Given the description of an element on the screen output the (x, y) to click on. 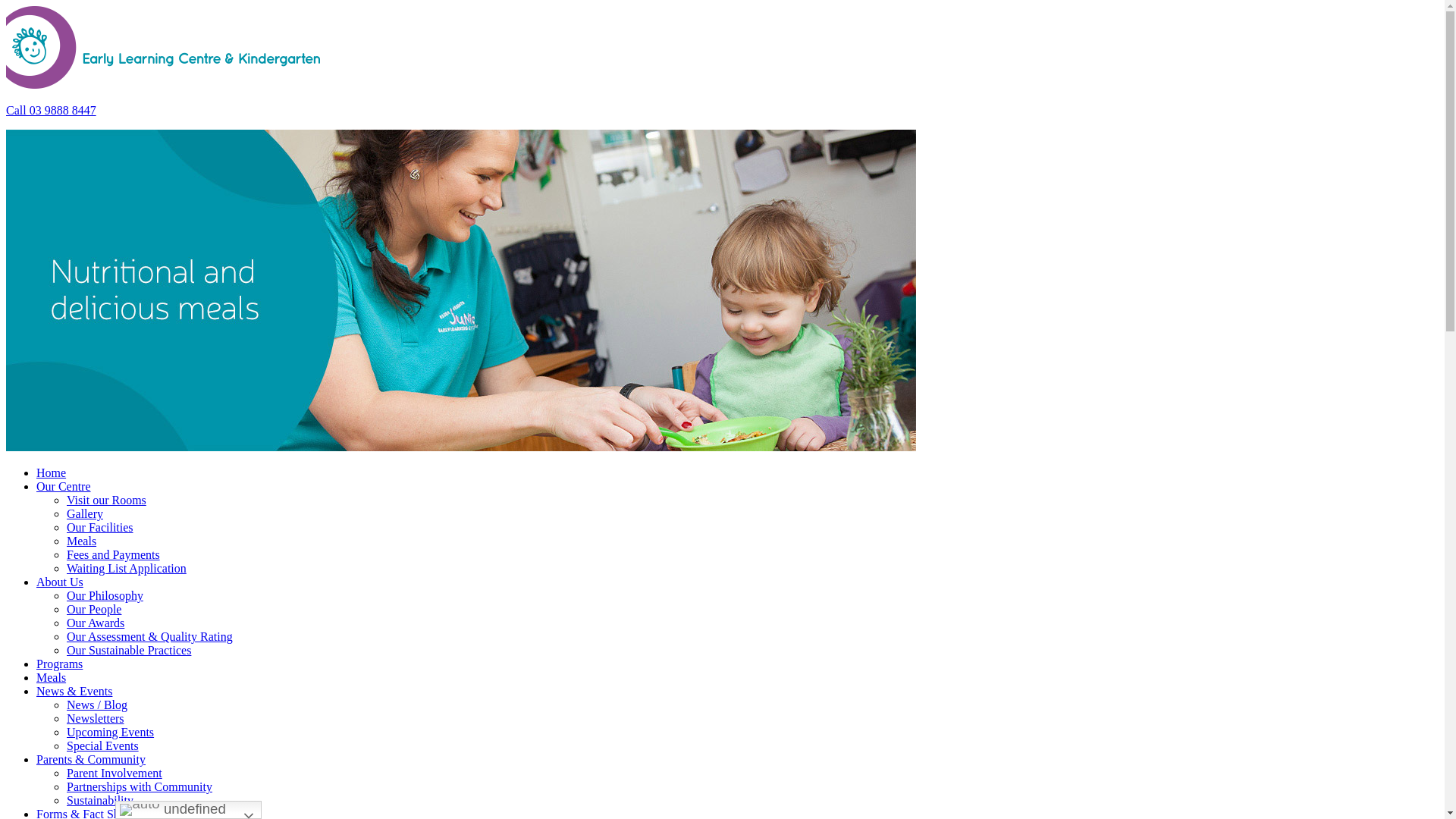
Visit our Rooms Element type: text (106, 499)
Call 03 9888 8447 Element type: text (51, 109)
News & Events Element type: text (74, 690)
Programs Element type: text (59, 663)
Fees and Payments Element type: text (113, 554)
Our Philosophy Element type: text (104, 595)
About Us Element type: text (59, 581)
Upcoming Events Element type: text (109, 731)
Partnerships with Community Element type: text (139, 786)
Gallery Element type: text (84, 513)
Parents & Community Element type: text (90, 759)
Meals Element type: text (50, 677)
News / Blog Element type: text (96, 704)
Newsletters Element type: text (95, 718)
Meals Element type: text (81, 540)
Sustainability Element type: text (99, 799)
Our People Element type: text (93, 608)
Our Facilities Element type: text (99, 526)
Our Sustainable Practices Element type: text (128, 649)
Our Awards Element type: text (95, 622)
Special Events Element type: text (102, 745)
Waiting List Application Element type: text (126, 567)
Our Centre Element type: text (63, 486)
Our Assessment & Quality Rating Element type: text (149, 636)
Parent Involvement Element type: text (114, 772)
Home Element type: text (50, 472)
